Given the description of an element on the screen output the (x, y) to click on. 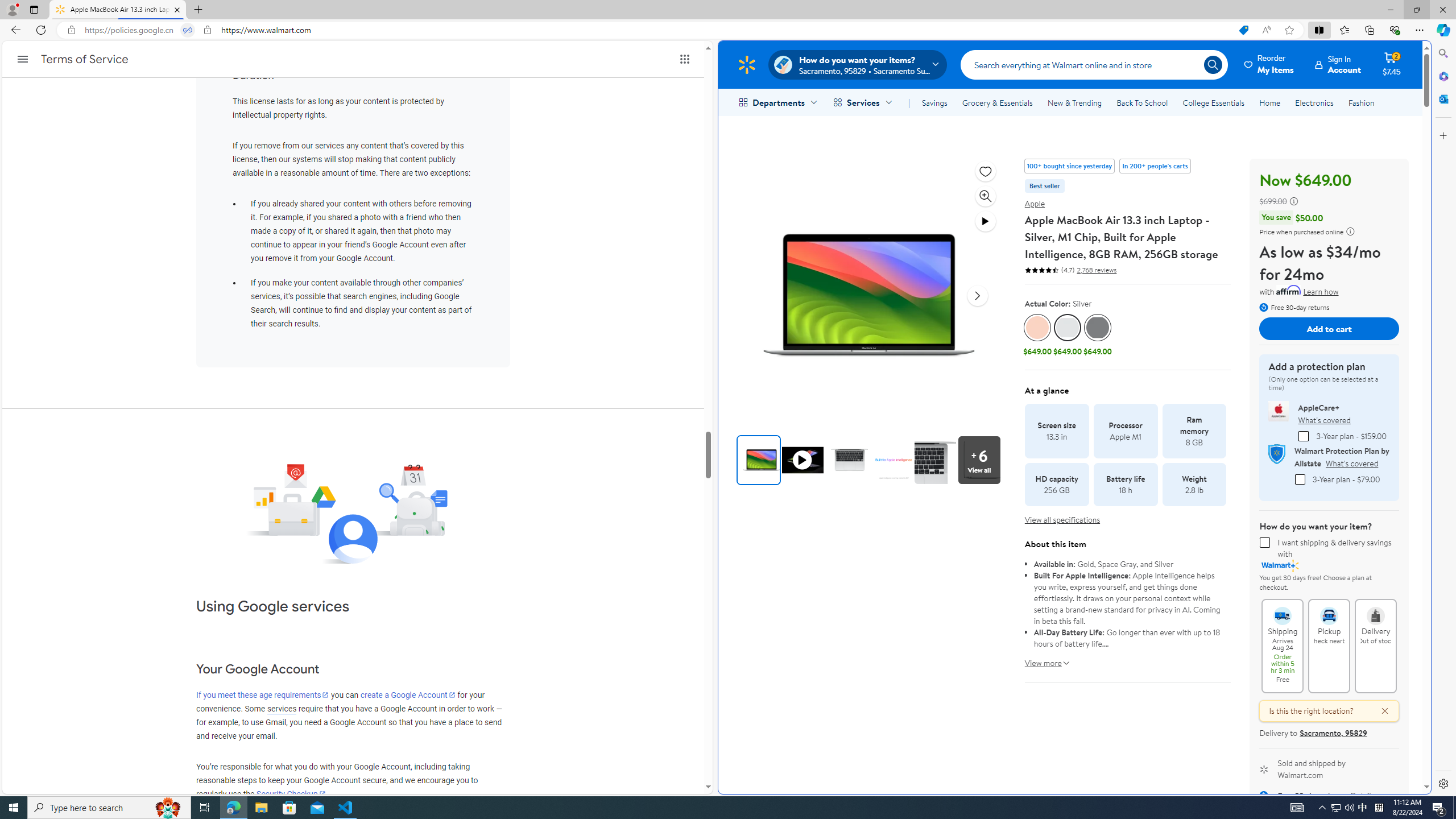
Delivery Out of stock Delivery Out of stock (1375, 645)
View all specifications (1062, 520)
Silver selected, Silver, $649.00 (1067, 335)
College Essentials (1213, 102)
3-Year plan - $79.00 (1299, 479)
View more, item details (1043, 658)
legal information (1350, 230)
Tabs in split screen (187, 29)
